Given the description of an element on the screen output the (x, y) to click on. 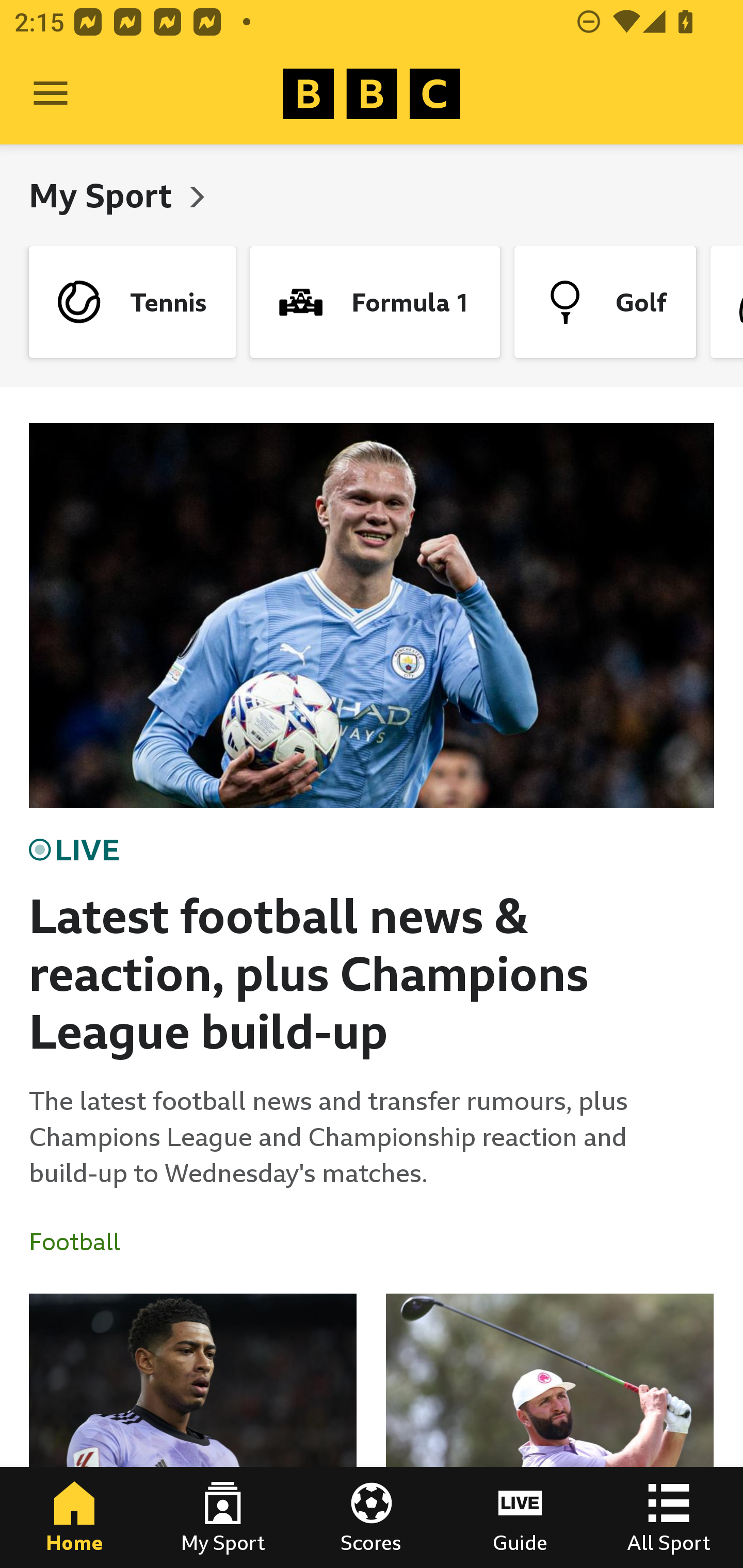
Open Menu (50, 93)
My Sport (104, 195)
Football In the section Football (81, 1241)
Real midfielder Bellingham banned for two games (192, 1430)
My Sport (222, 1517)
Scores (371, 1517)
Guide (519, 1517)
All Sport (668, 1517)
